Given the description of an element on the screen output the (x, y) to click on. 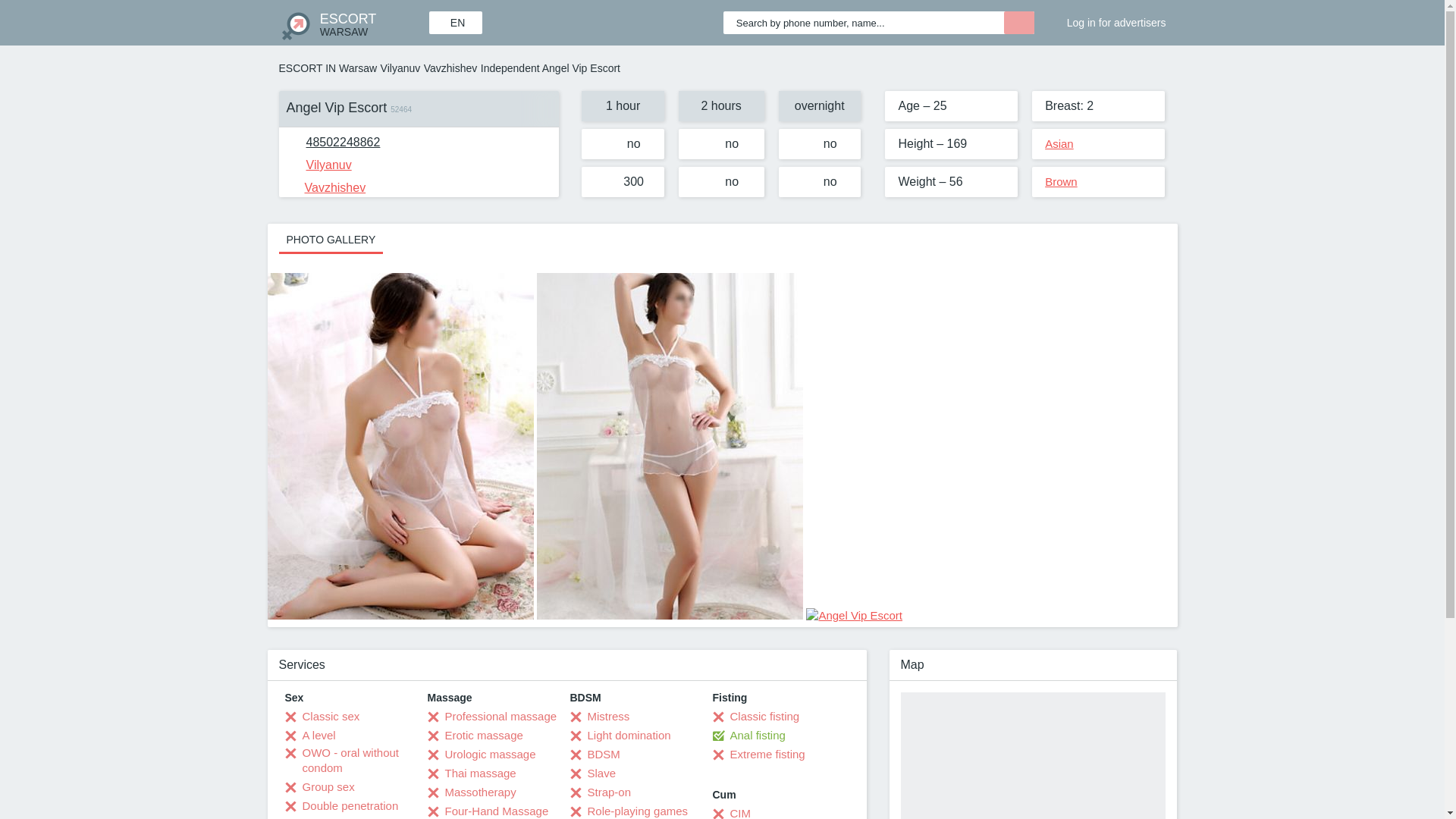
Group sex (320, 786)
OWO - oral without condom (356, 760)
Toys (305, 818)
Vilyanuv (400, 68)
Erotic massage (475, 735)
Vilyanuv (319, 164)
Classic sex (322, 716)
Double penetration (341, 806)
Professional massage (492, 716)
Vavzhishev (352, 22)
Asian (450, 68)
48502248862 (1059, 143)
Log in for advertisers (342, 141)
Thai massage (1107, 17)
